Given the description of an element on the screen output the (x, y) to click on. 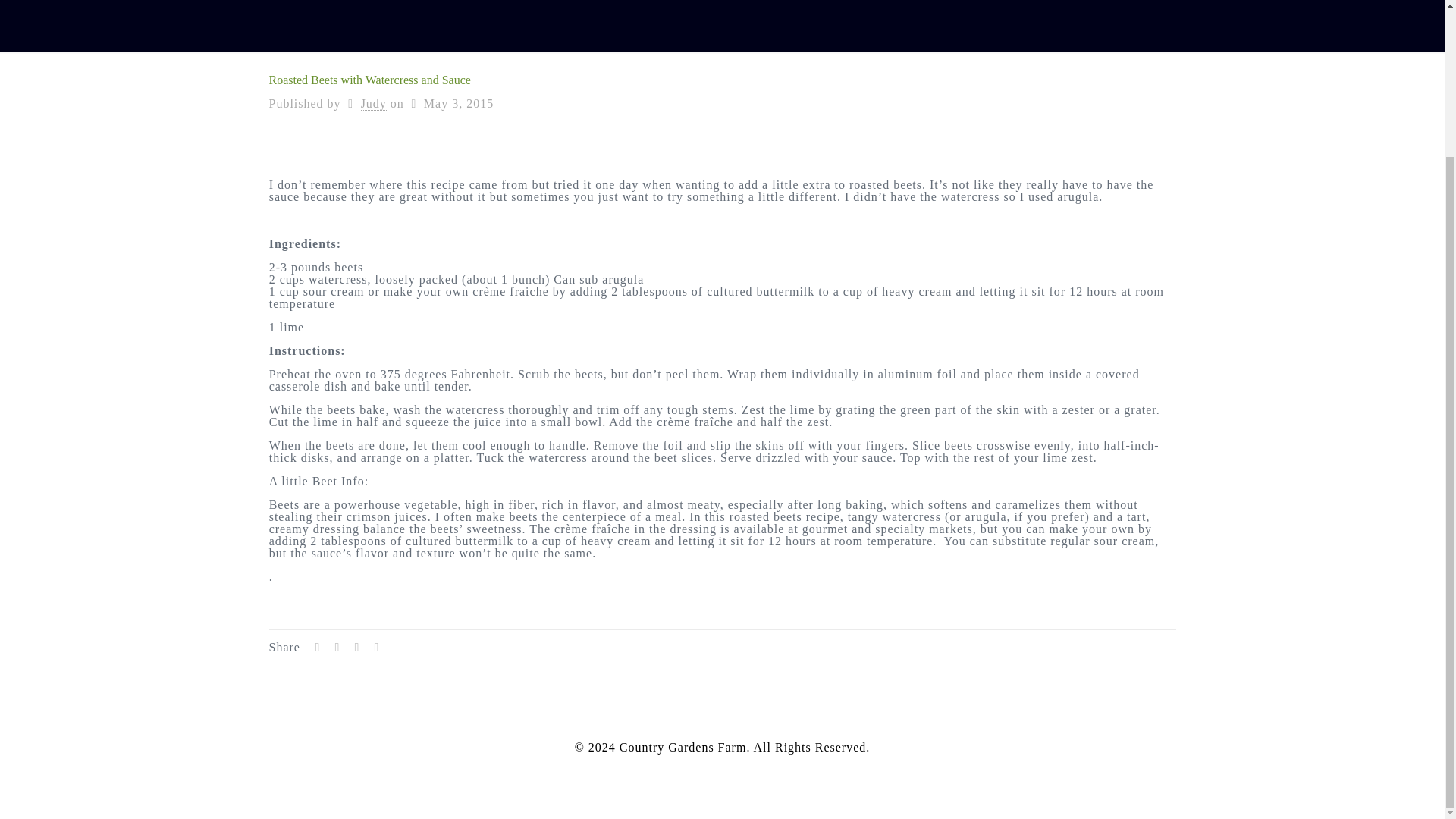
Instagram (738, 767)
Facebook (705, 767)
YouTube (722, 767)
